Given the description of an element on the screen output the (x, y) to click on. 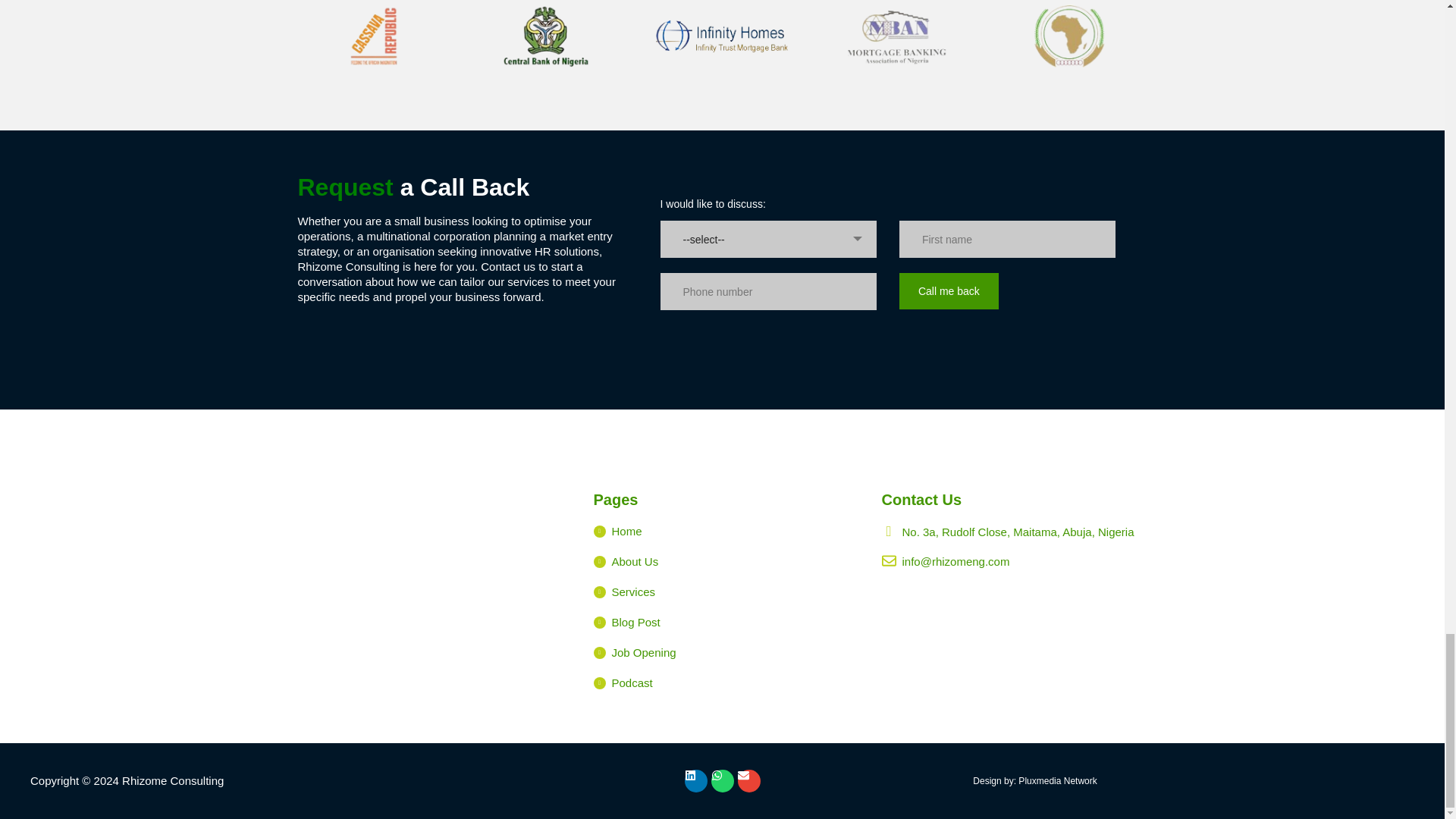
--select-- (768, 239)
No. 3a, Rudolf Close, Maitama, Abuja, Nigeria (433, 591)
